Given the description of an element on the screen output the (x, y) to click on. 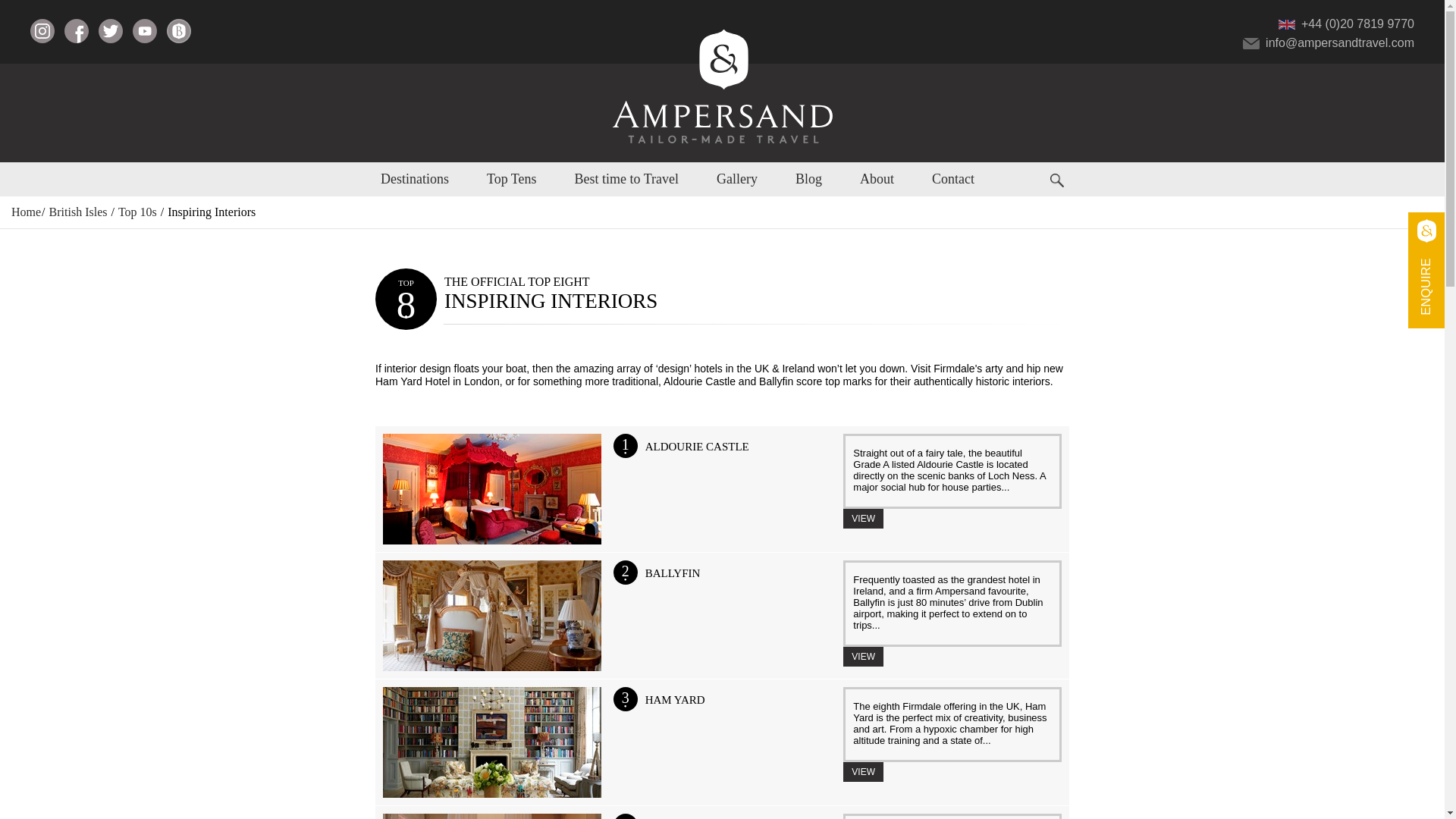
Destinations (414, 179)
View here (863, 656)
View here (863, 518)
View here (863, 772)
